Given the description of an element on the screen output the (x, y) to click on. 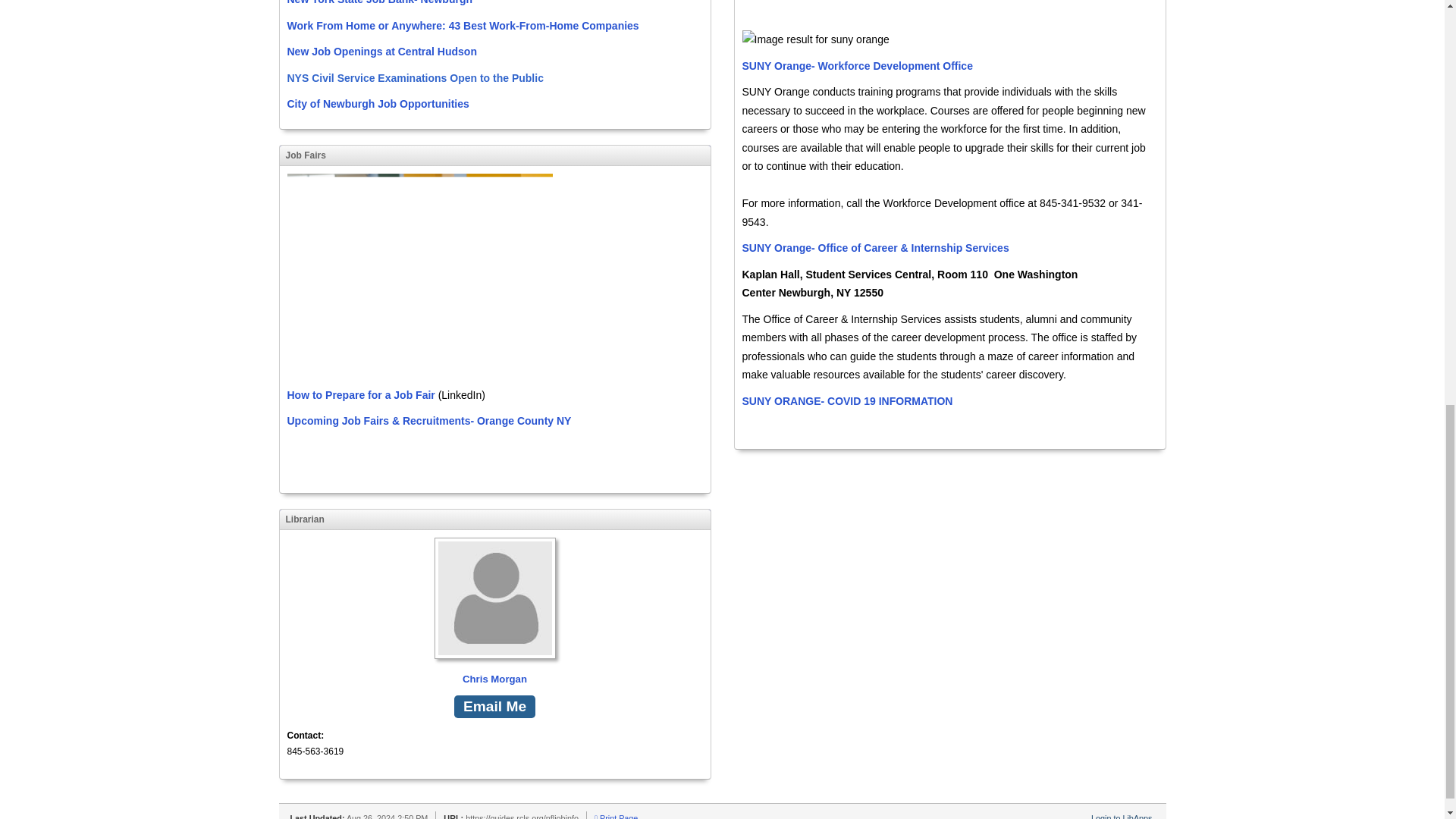
SUNY Orange- Workforce Development Office (856, 65)
How to Prepare for a Job Fair (359, 395)
Work From Home or Anywhere: 43 Best Work-From-Home Companies (462, 25)
New York State Job Bank- Newburgh (378, 2)
NYS Civil Service Examinations Open to the Public (414, 78)
Email Me (494, 707)
New Job Openings at Central Hudson (381, 51)
City of Newburgh Job Opportunities (377, 103)
Chris Morgan (493, 612)
